Given the description of an element on the screen output the (x, y) to click on. 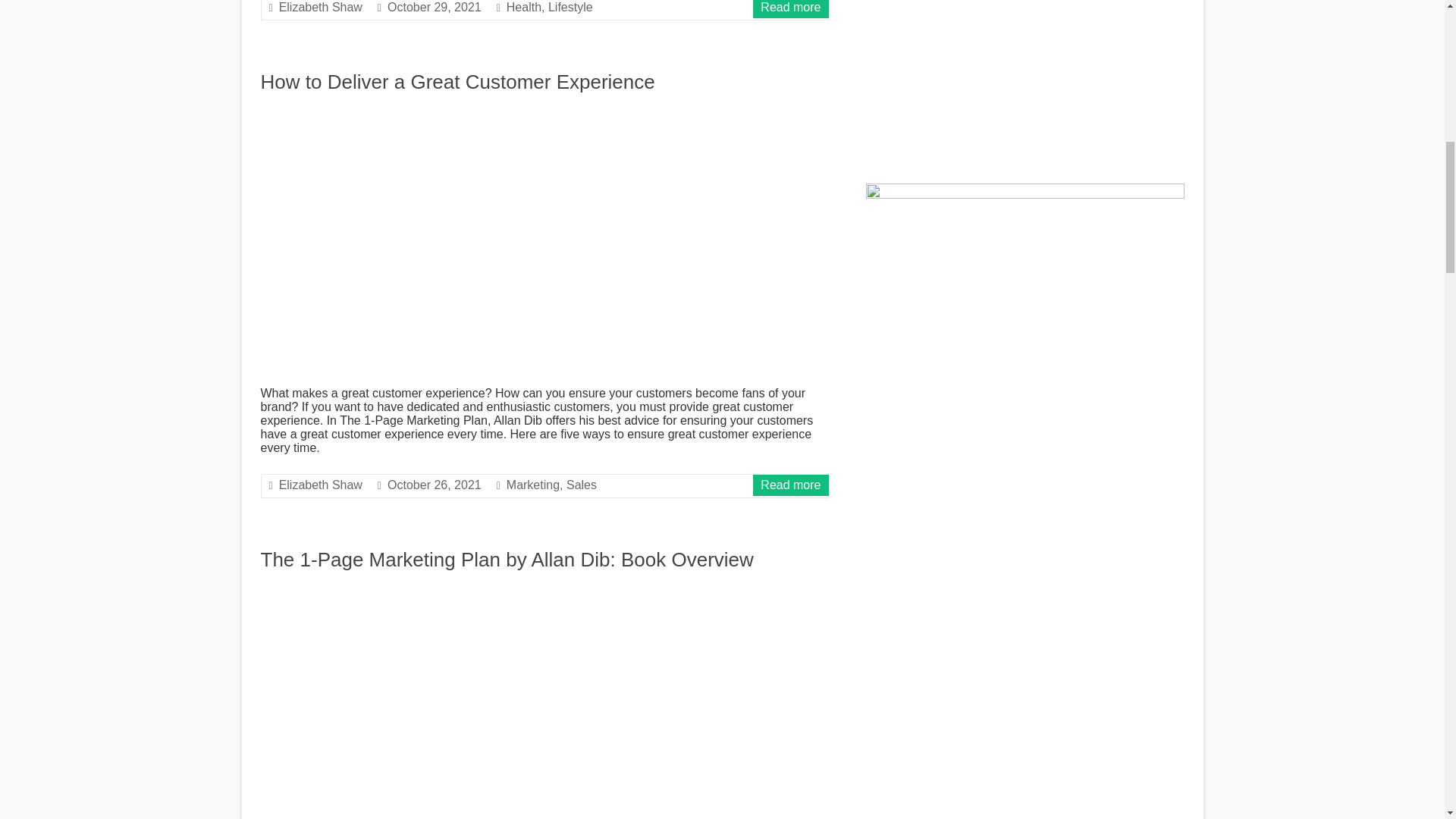
Elizabeth Shaw (320, 6)
How to Deliver a Great Customer Experience (457, 81)
Marketing (532, 484)
Sales (581, 484)
The 1-Page Marketing Plan by Allan Dib: Book Overview (507, 558)
October 29, 2021 (434, 6)
Read more (790, 6)
6:00 pm (434, 484)
The 1-Page Marketing Plan by Allan Dib: Book Overview (544, 592)
Read more (790, 484)
October 26, 2021 (434, 484)
Health (523, 6)
How to Deliver a Great Customer Experience (457, 81)
5:01 pm (434, 6)
Elizabeth Shaw (320, 484)
